Given the description of an element on the screen output the (x, y) to click on. 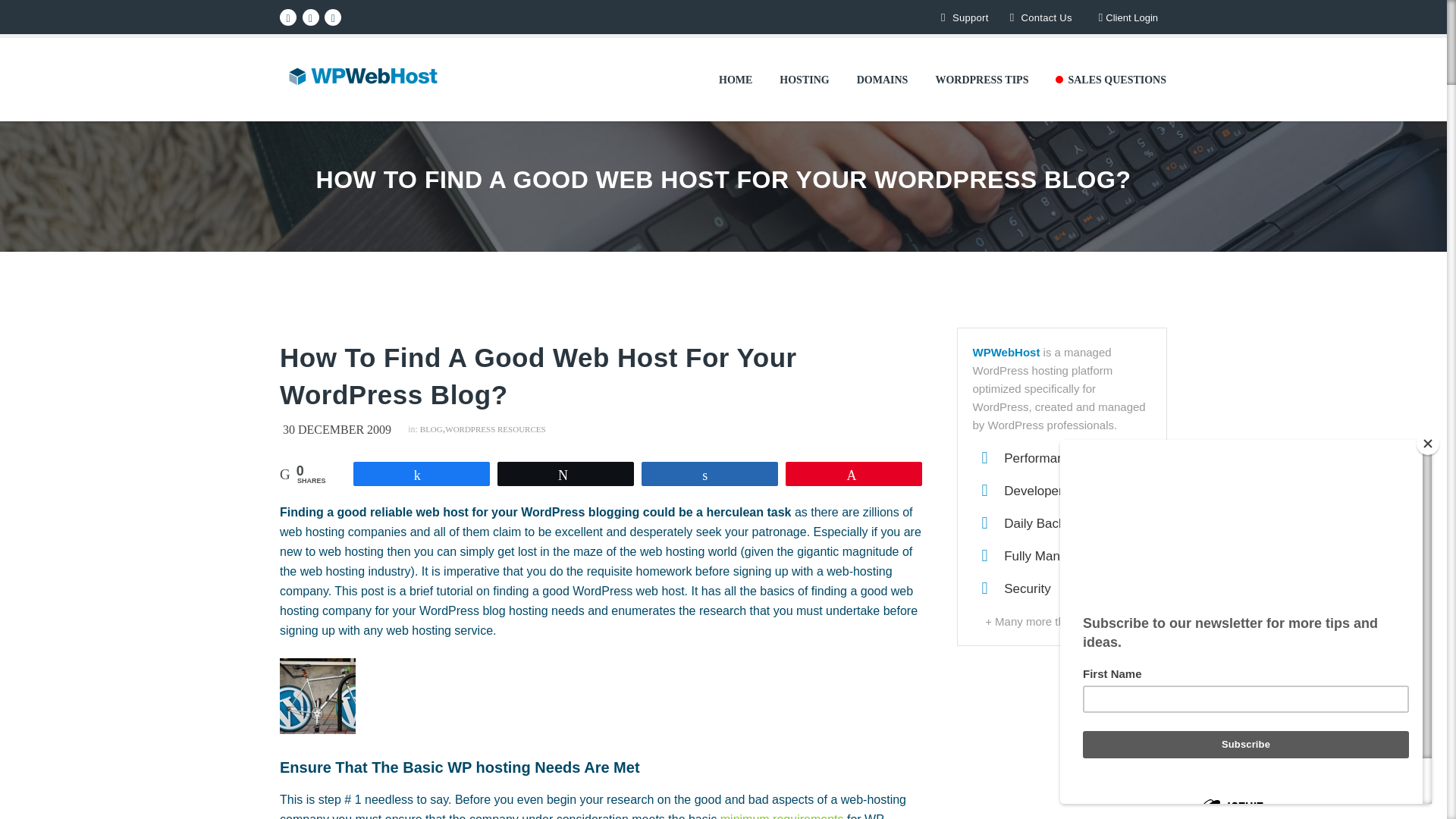
Client Login (1128, 18)
wordpress blog (317, 695)
HOME (734, 79)
Support (962, 17)
HOSTING (804, 79)
WP hosting basic requirements (782, 816)
BLOG (431, 429)
SALES QUESTIONS (1110, 79)
WORDPRESS TIPS (981, 79)
30 DECEMBER 2009 (343, 429)
WORDPRESS RESOURCES (502, 429)
Contact Us (1038, 17)
minimum requirements (782, 816)
Chat (1408, 779)
DOMAINS (882, 79)
